Given the description of an element on the screen output the (x, y) to click on. 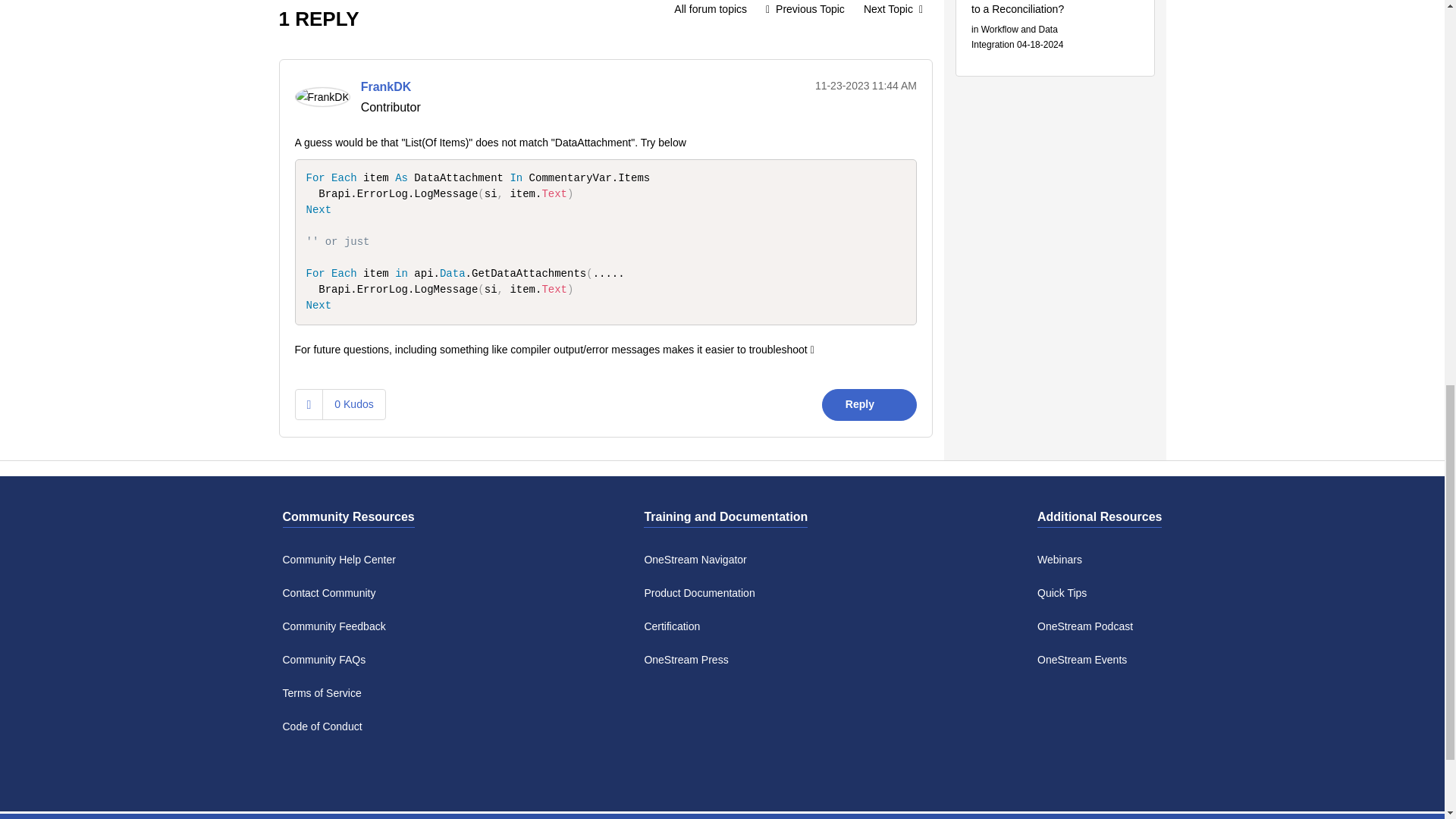
Rules (710, 11)
The total number of kudos this post has received. (353, 403)
FrankDK (321, 96)
